Given the description of an element on the screen output the (x, y) to click on. 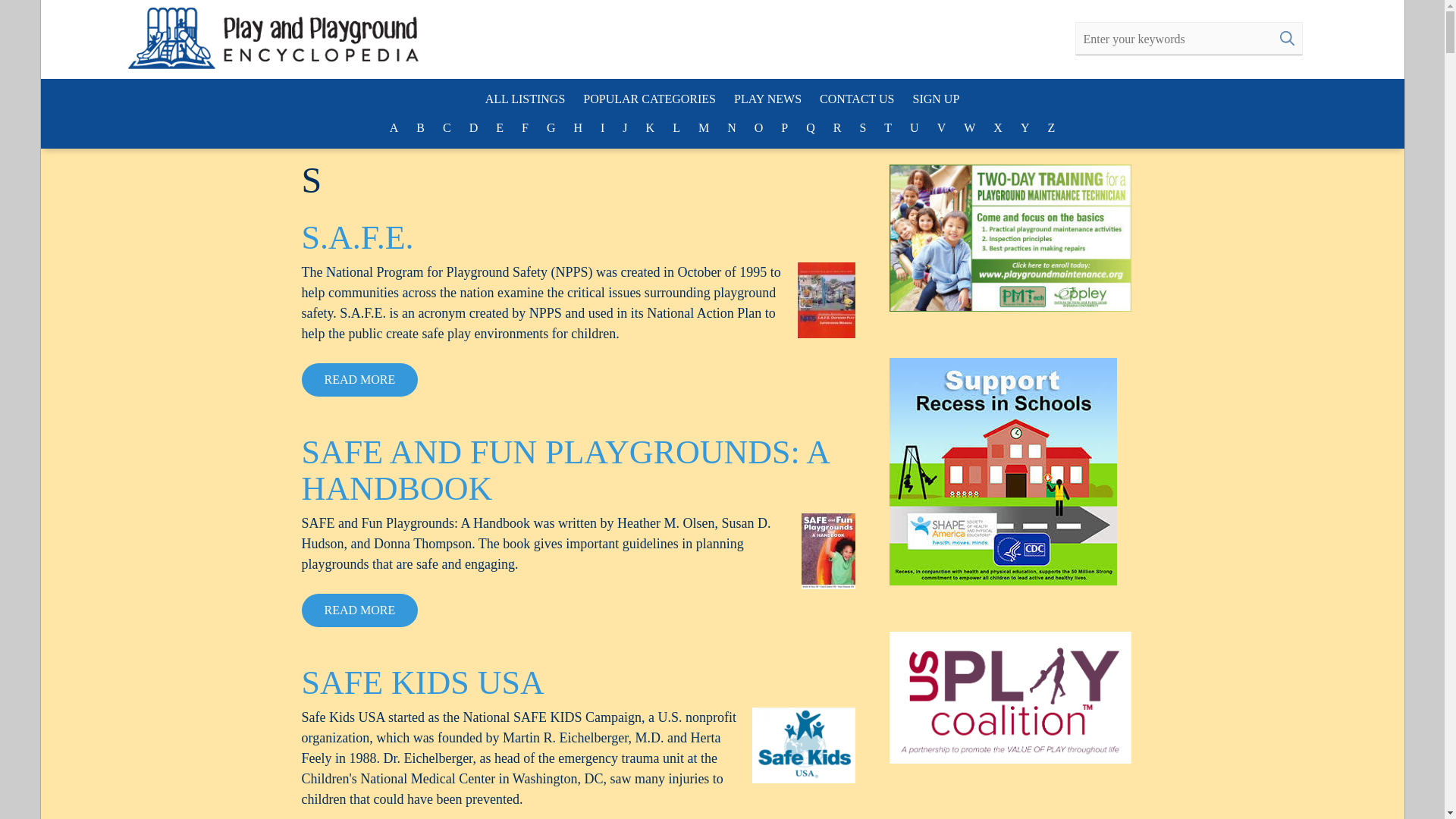
G (550, 127)
E (499, 127)
R (837, 127)
Search (1286, 38)
Home (227, 38)
Search (1286, 38)
H (577, 127)
Q (810, 127)
CONTACT US (856, 99)
K (650, 127)
M (702, 127)
N (731, 127)
POPULAR CATEGORIES (649, 99)
O (759, 127)
